Given the description of an element on the screen output the (x, y) to click on. 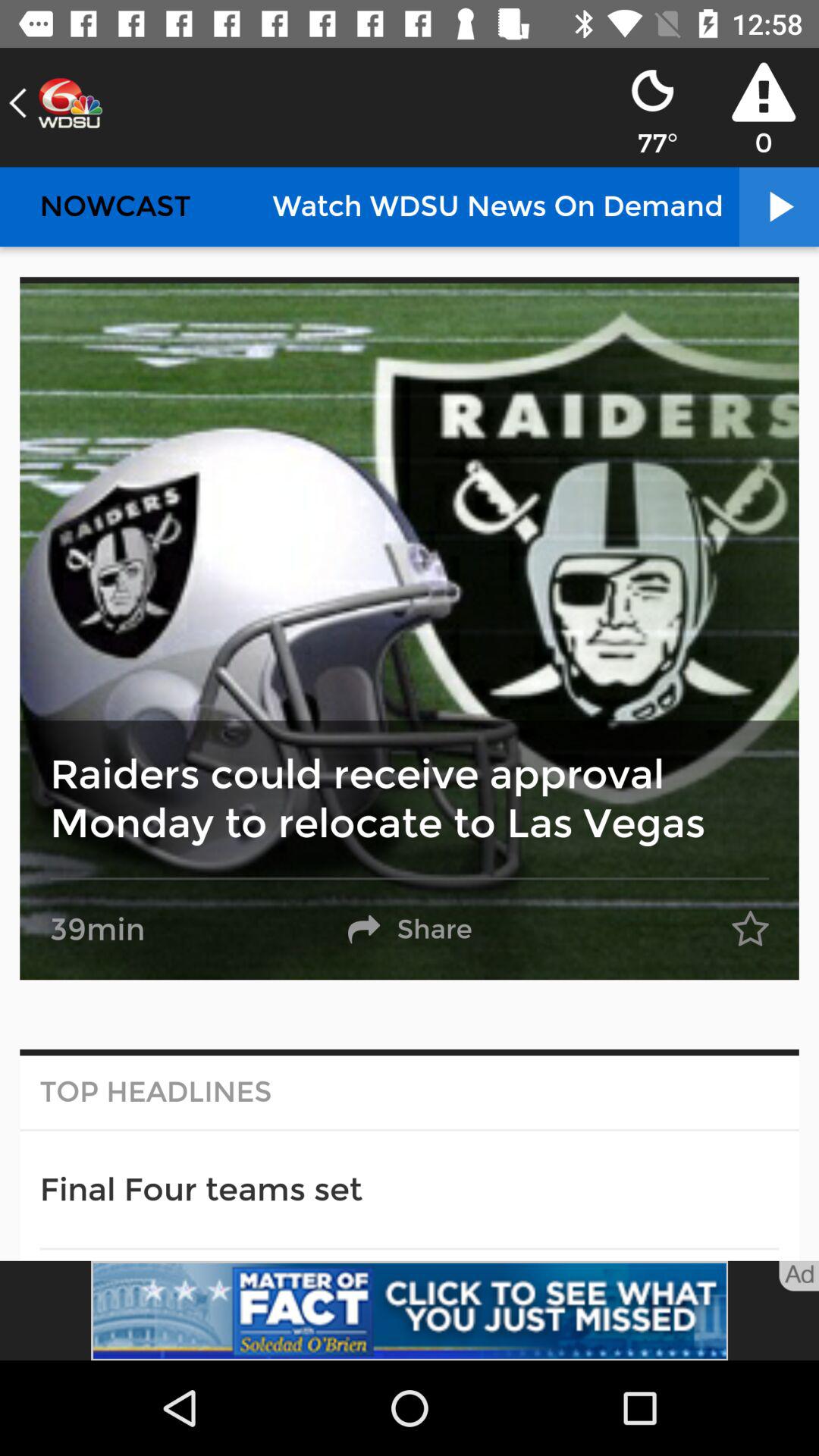
open advertisement (409, 1310)
